Given the description of an element on the screen output the (x, y) to click on. 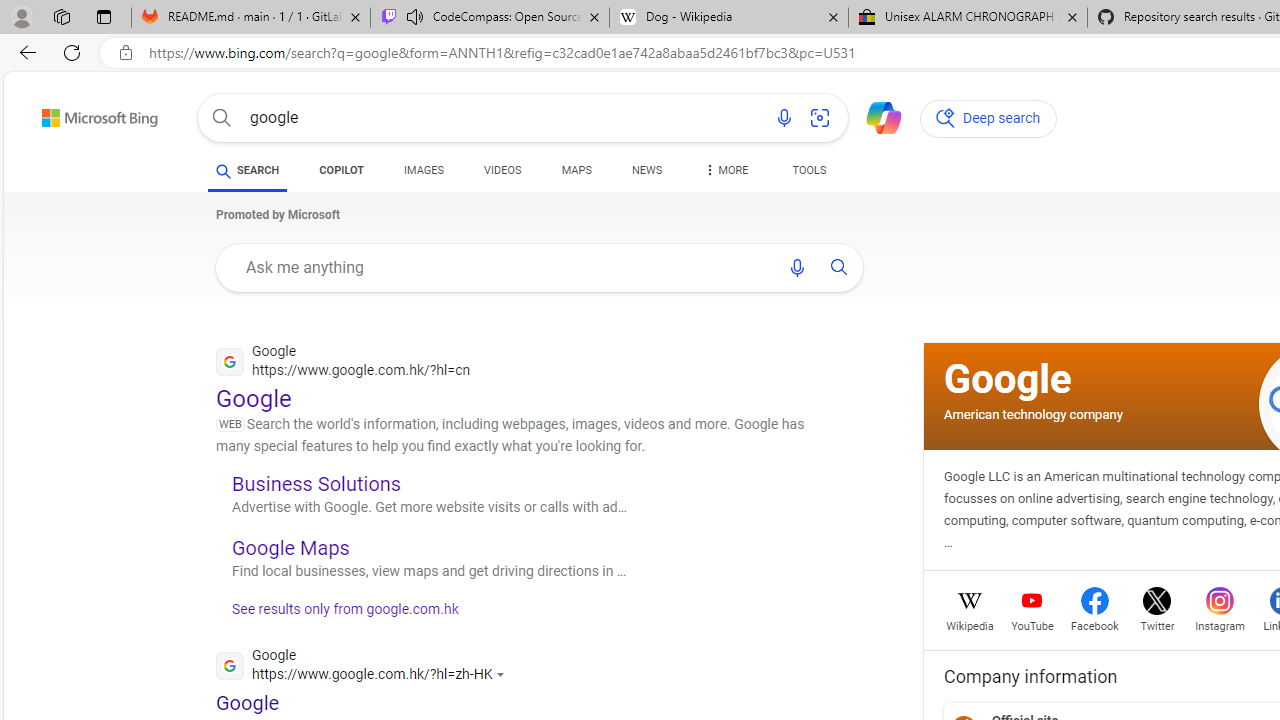
VIDEOS (502, 170)
COPILOT (341, 173)
Search using voice (797, 267)
YouTube (1032, 624)
Skip to content (64, 111)
SEARCH (247, 170)
Twitter (1156, 624)
IMAGES (424, 173)
COPILOT (341, 170)
Dog - Wikipedia (729, 17)
Chat (875, 116)
